Given the description of an element on the screen output the (x, y) to click on. 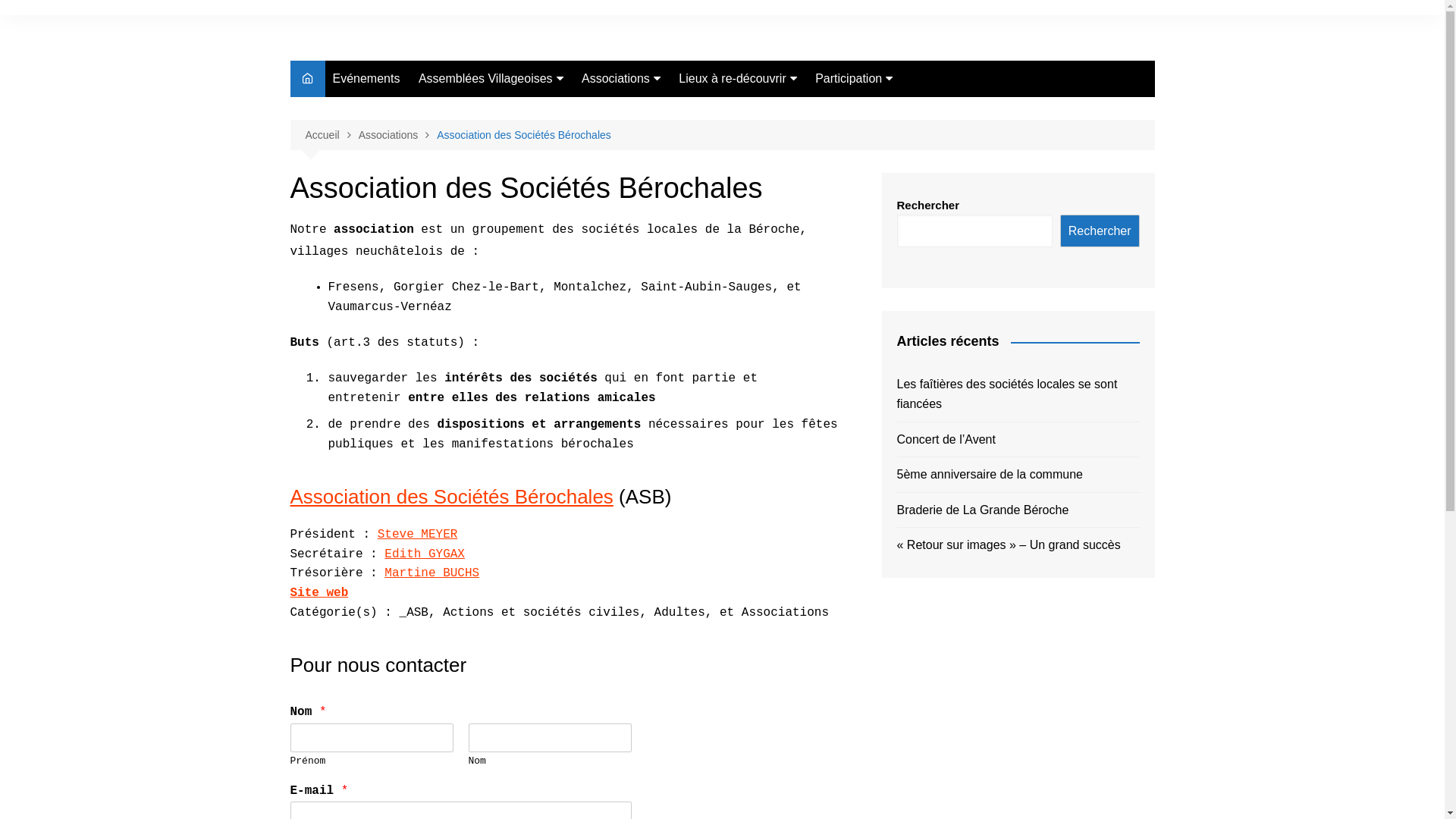
Steve MEYER Element type: text (417, 534)
Locations : Salles & Refuges Element type: text (754, 203)
Places de jeux & pique-nique, Plages & Ports Element type: text (754, 141)
Accueil Element type: text (330, 134)
Edith GYGAX Element type: text (424, 554)
Support pour les auteurs Element type: text (890, 109)
Participation Element type: text (853, 78)
Nature et Ballades Element type: text (754, 109)
Site web Element type: text (318, 592)
Bars, Buvettes, Restaurants & Traiteurs Element type: text (754, 241)
Gorgier Chez-le-Bart Element type: text (494, 159)
Bevaix Element type: text (494, 109)
Associations Element type: text (621, 78)
Martine BUCHS Element type: text (431, 573)
Rechercher Element type: text (1099, 230)
Associations Element type: text (397, 134)
Fresens Element type: text (494, 134)
Culture Element type: text (754, 172)
Montalchez Element type: text (494, 184)
